Given the description of an element on the screen output the (x, y) to click on. 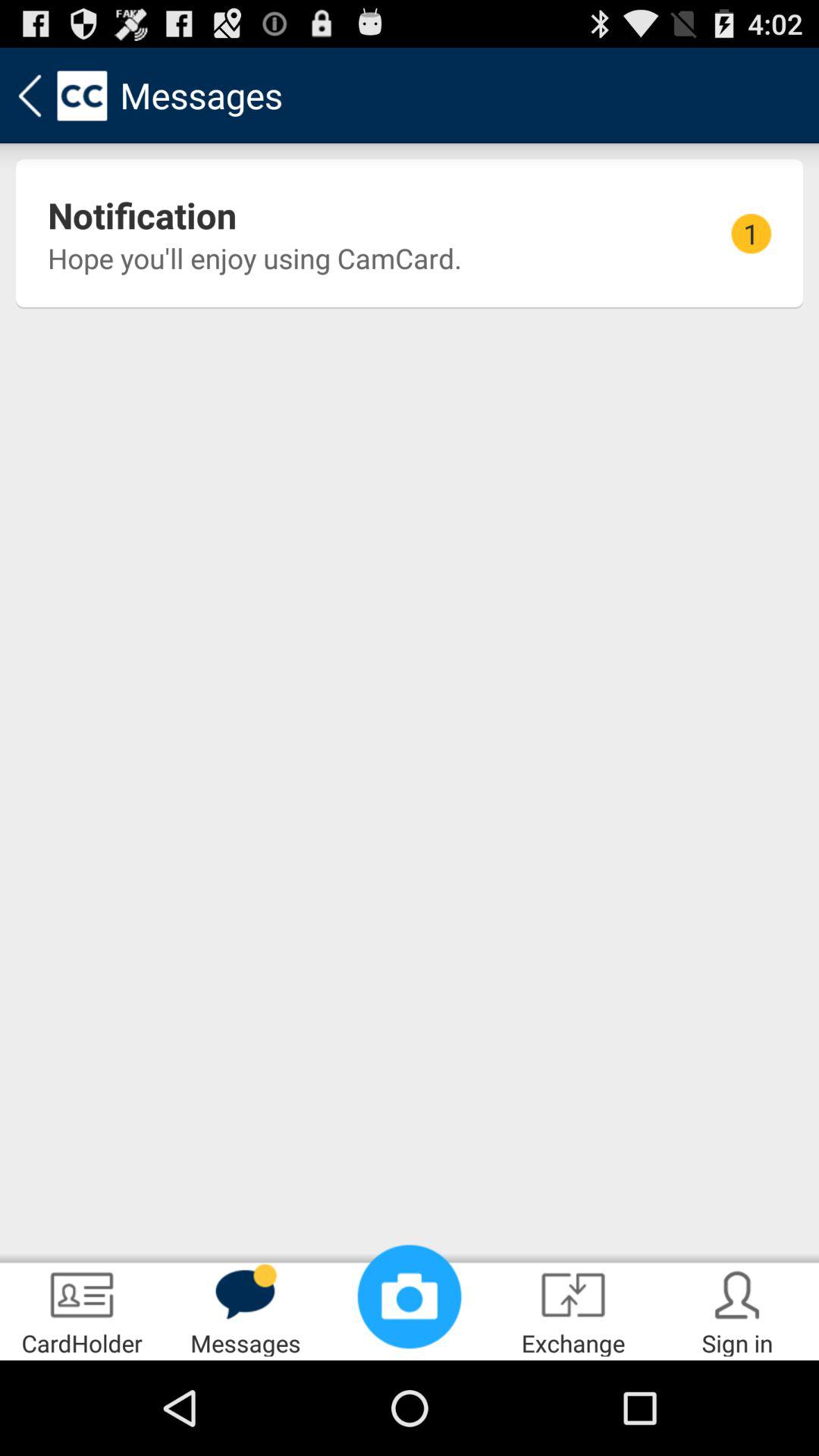
open icon next to the messages app (409, 1296)
